Given the description of an element on the screen output the (x, y) to click on. 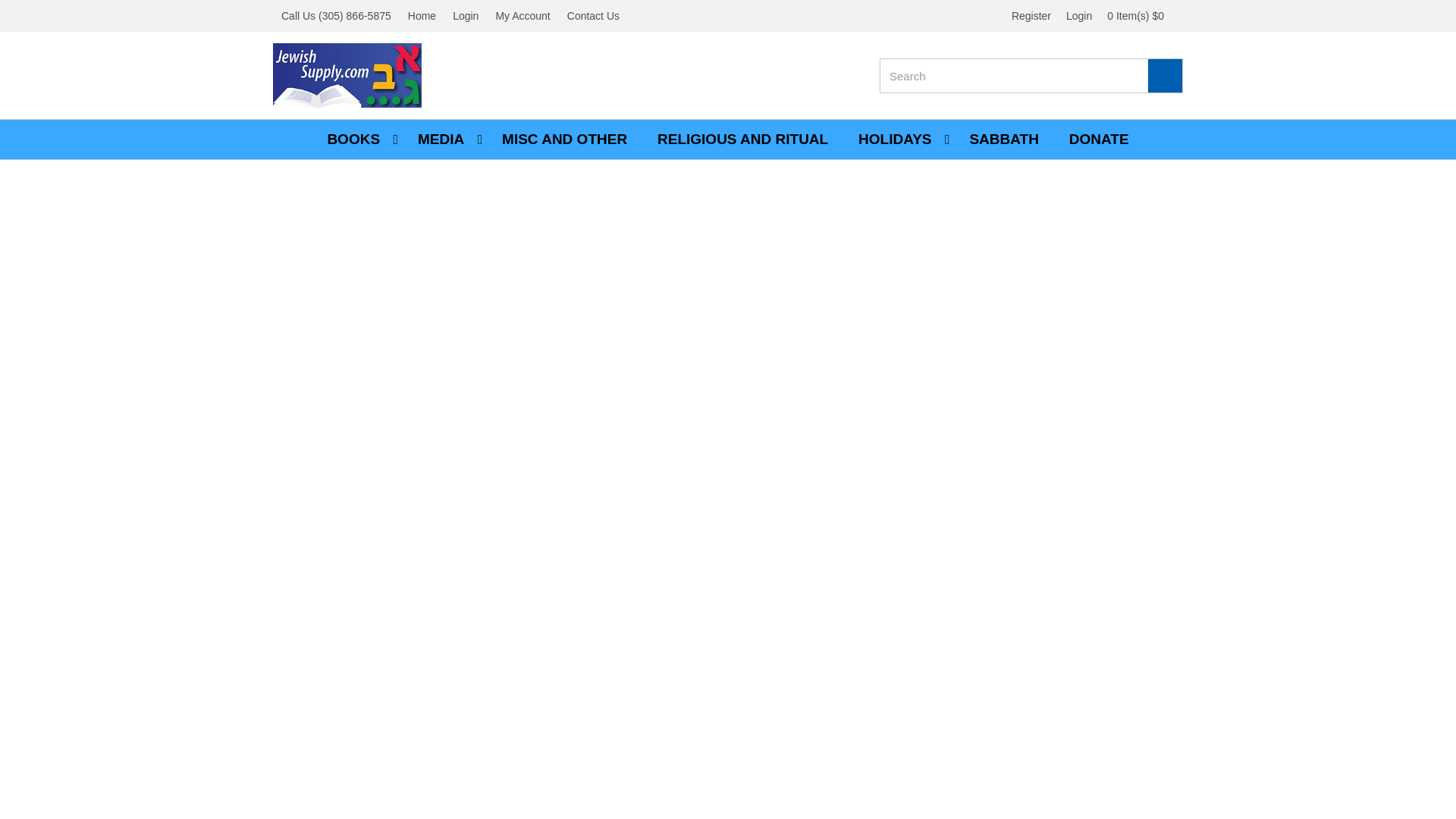
Login (1079, 15)
SABBATH (1003, 138)
DONATE (1098, 138)
Home (421, 15)
BOOKS (357, 138)
HOLIDAYS (898, 138)
MEDIA (444, 138)
My Account (521, 15)
Contact Us (593, 15)
Login (465, 15)
RELIGIOUS AND RITUAL (742, 138)
Register (1030, 15)
MISC AND OTHER (563, 138)
